Given the description of an element on the screen output the (x, y) to click on. 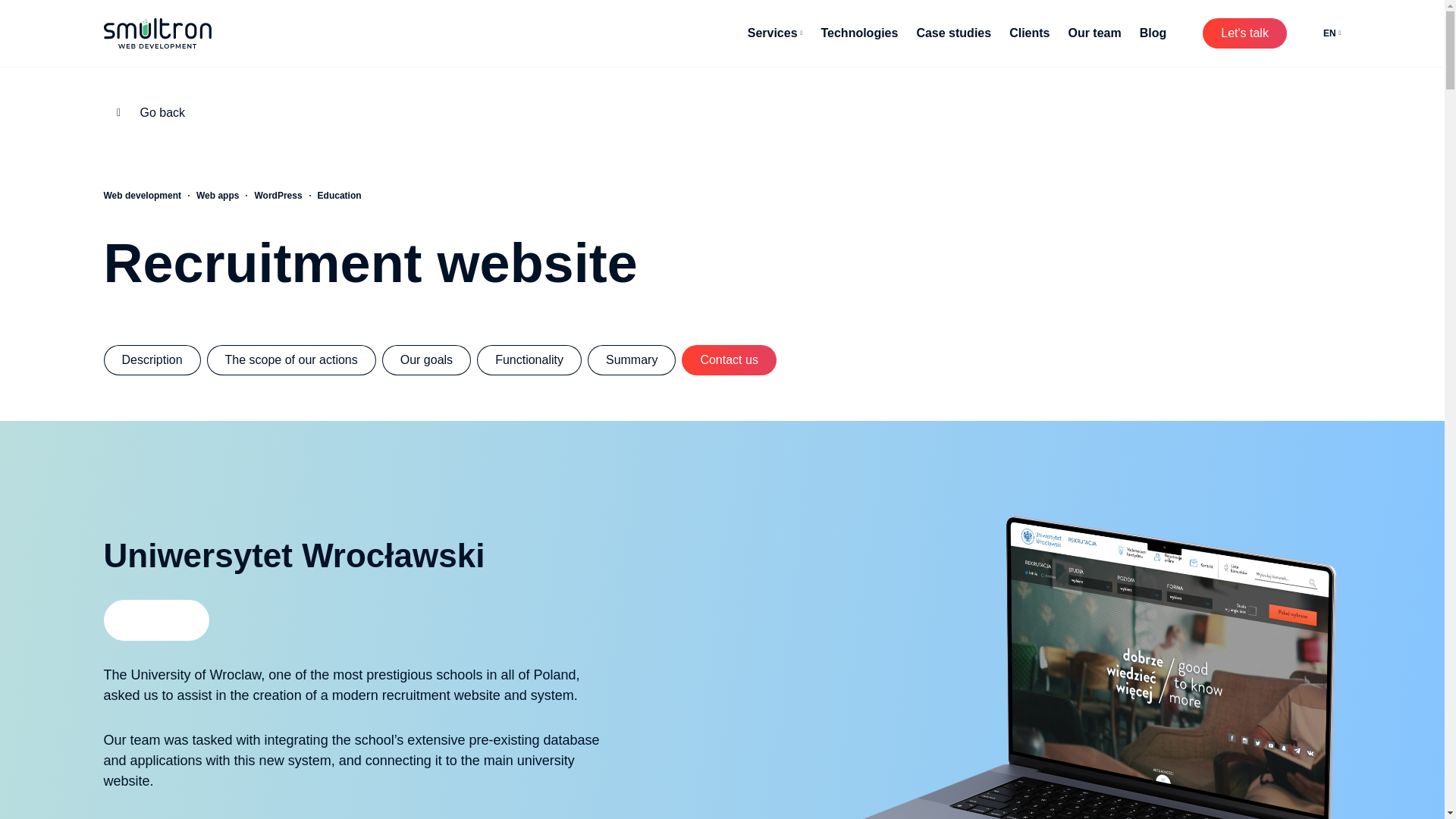
Web apps (217, 195)
Contact us (728, 359)
Our goals (425, 359)
Technologies (859, 33)
Functionality (528, 359)
The scope of our actions (290, 359)
Summary (631, 359)
Our team (1094, 33)
Smultron Web Development (157, 33)
Web development (141, 195)
